Given the description of an element on the screen output the (x, y) to click on. 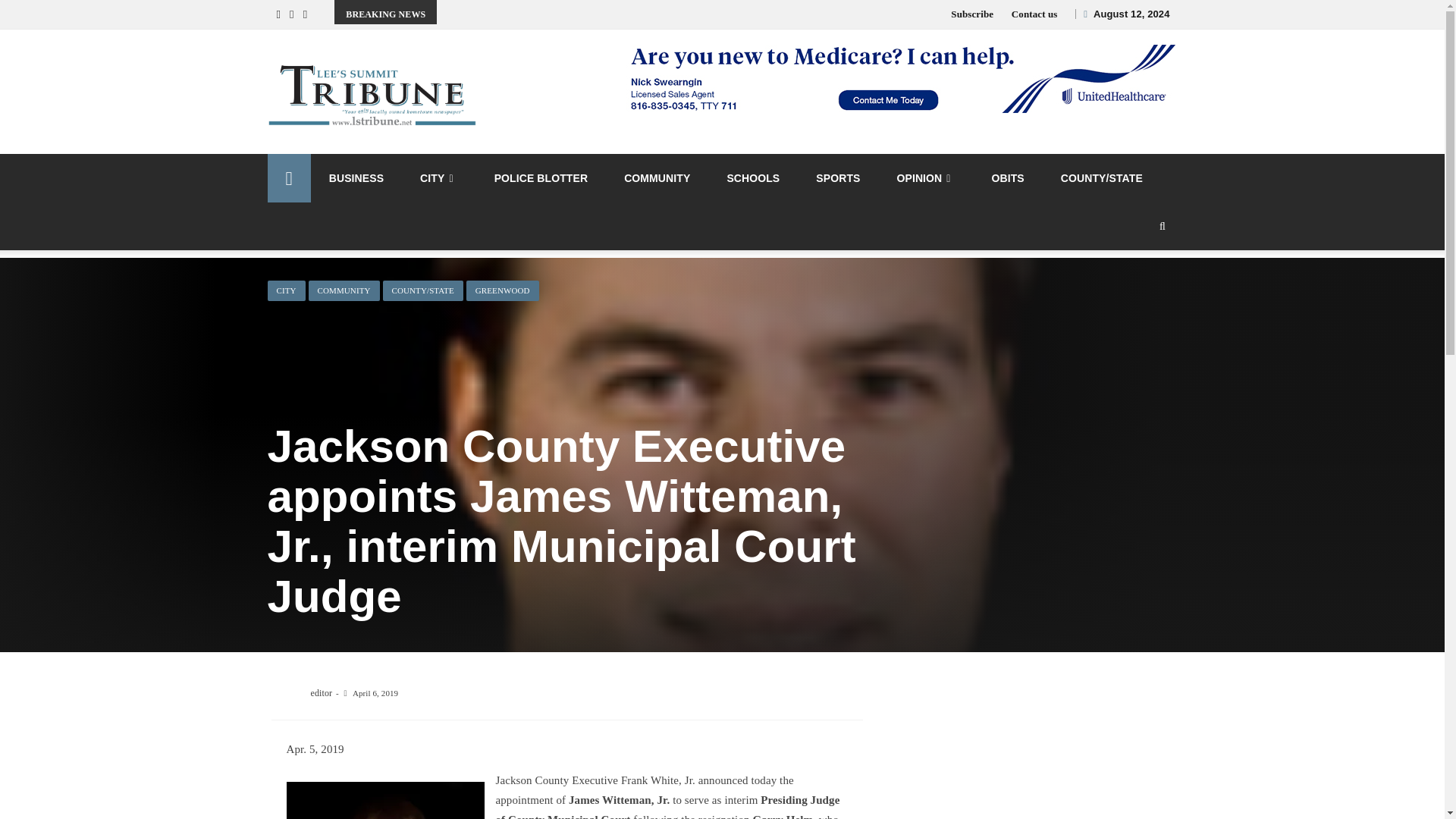
COMMUNITY (656, 177)
Contact us (1034, 13)
SCHOOLS (752, 177)
OPINION (924, 178)
SPORTS (837, 177)
CITY (438, 178)
POLICE BLOTTER (541, 177)
COMMUNITY (344, 290)
BUSINESS (356, 177)
Subscribe (971, 13)
